Given the description of an element on the screen output the (x, y) to click on. 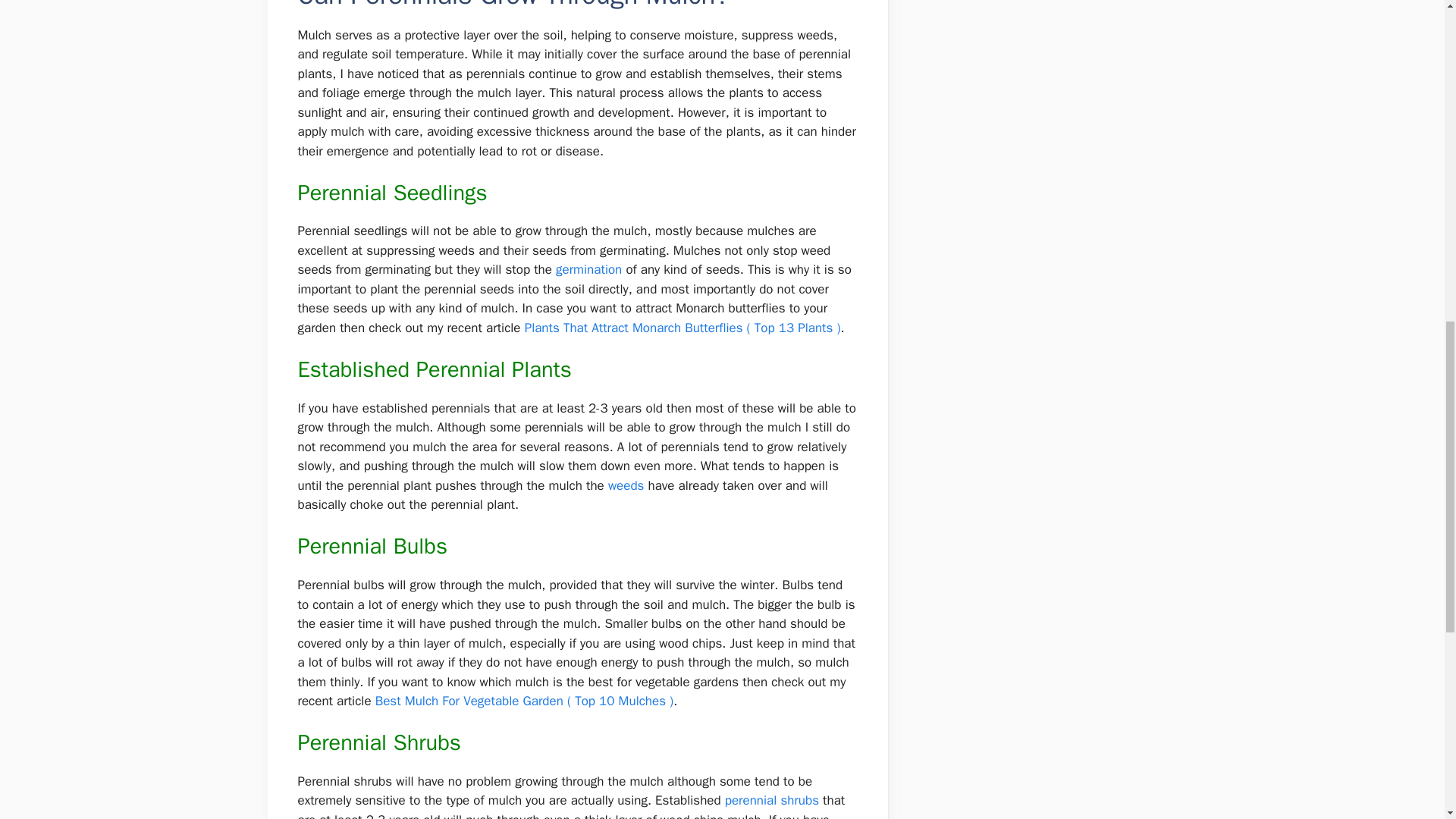
weeds (626, 485)
perennial shrubs (771, 800)
germination (588, 269)
